Given the description of an element on the screen output the (x, y) to click on. 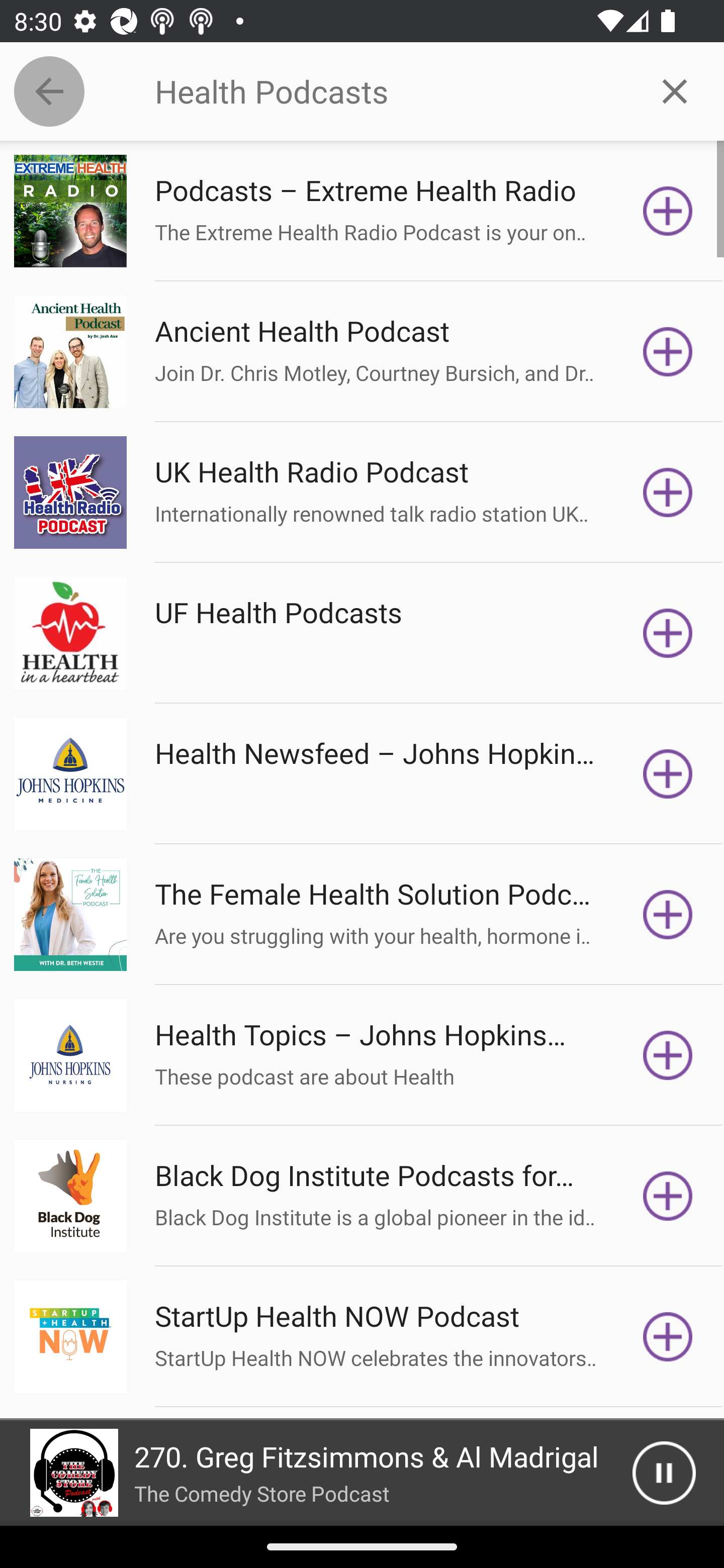
Collapse (49, 91)
Clear query (674, 90)
Health Podcasts (389, 91)
Subscribe (667, 211)
Subscribe (667, 350)
Subscribe (667, 491)
Picture UF Health Podcasts Subscribe (362, 633)
Subscribe (667, 633)
Subscribe (667, 773)
Subscribe (667, 913)
Subscribe (667, 1054)
Subscribe (667, 1195)
Subscribe (667, 1336)
Pause (663, 1472)
